Given the description of an element on the screen output the (x, y) to click on. 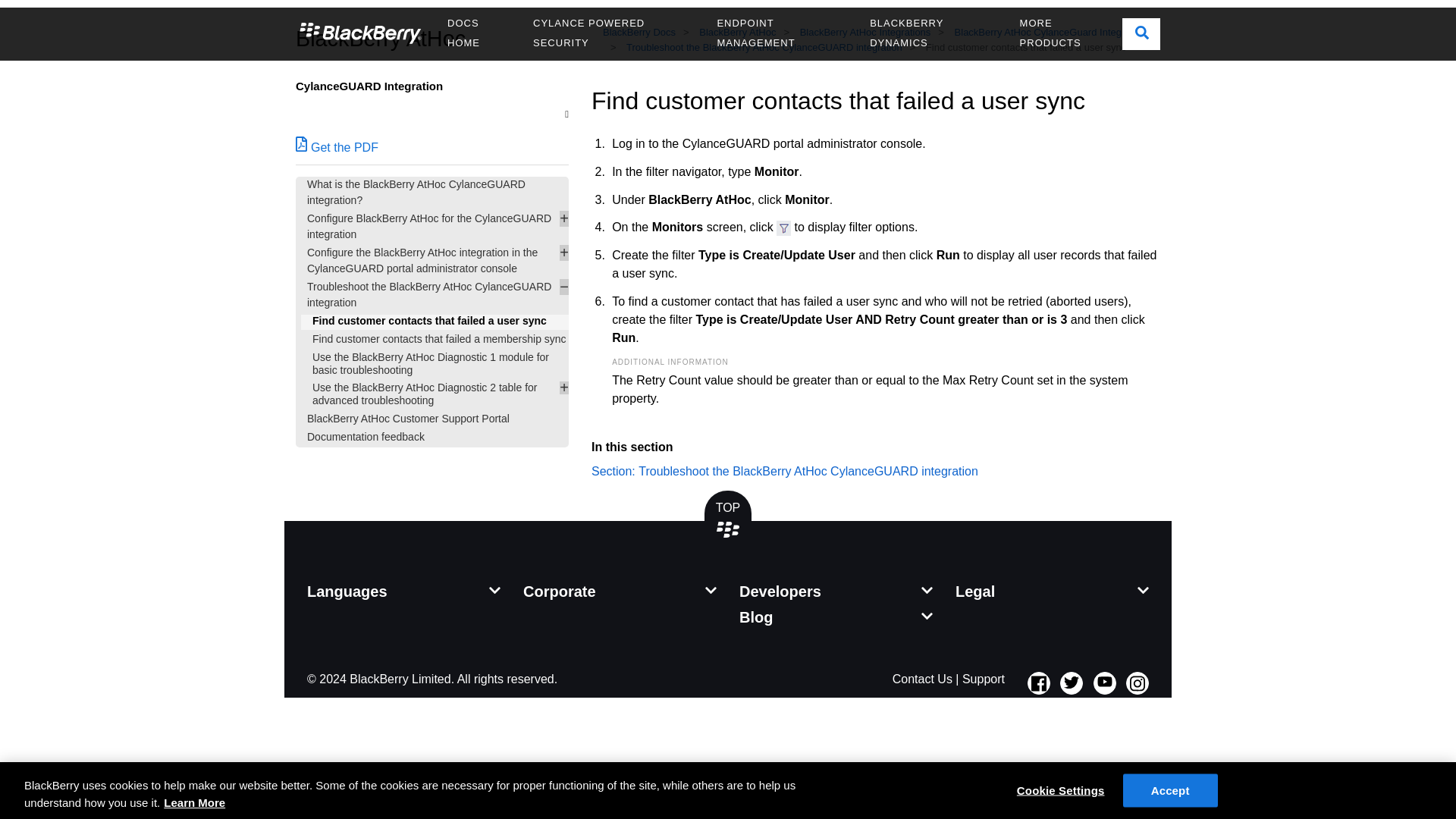
ENDPOINT MANAGEMENT (781, 33)
MORE PRODUCTS (1065, 33)
BLACKBERRY DYNAMICS (933, 33)
DOCS HOME (478, 33)
CYLANCE POWERED SECURITY (612, 33)
